Given the description of an element on the screen output the (x, y) to click on. 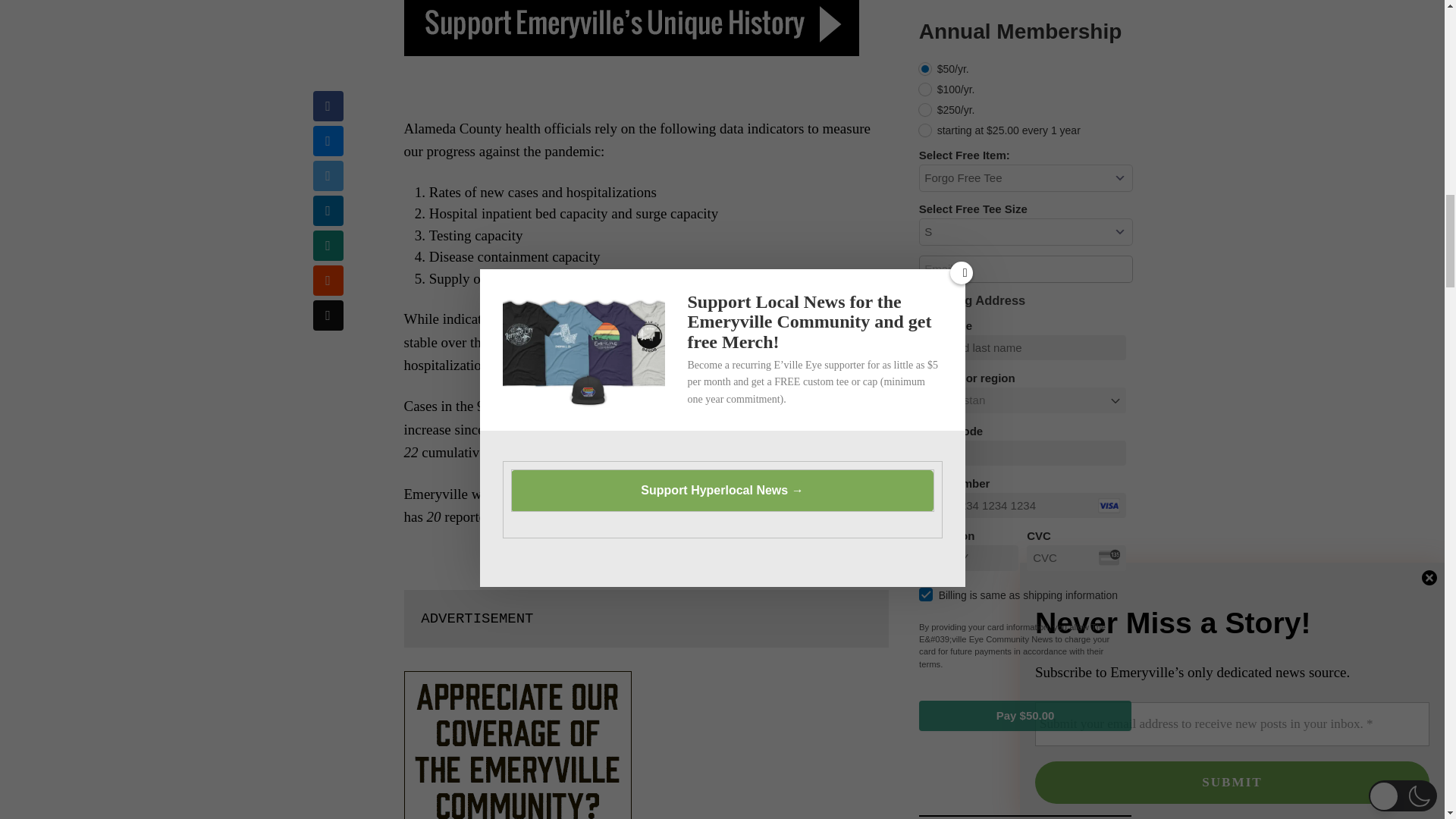
The Emeryville Historical Society Instory (631, 28)
make-a-recurring-annual-payment-1515781151 (924, 69)
Eville Eye Support Instory (516, 744)
